Given the description of an element on the screen output the (x, y) to click on. 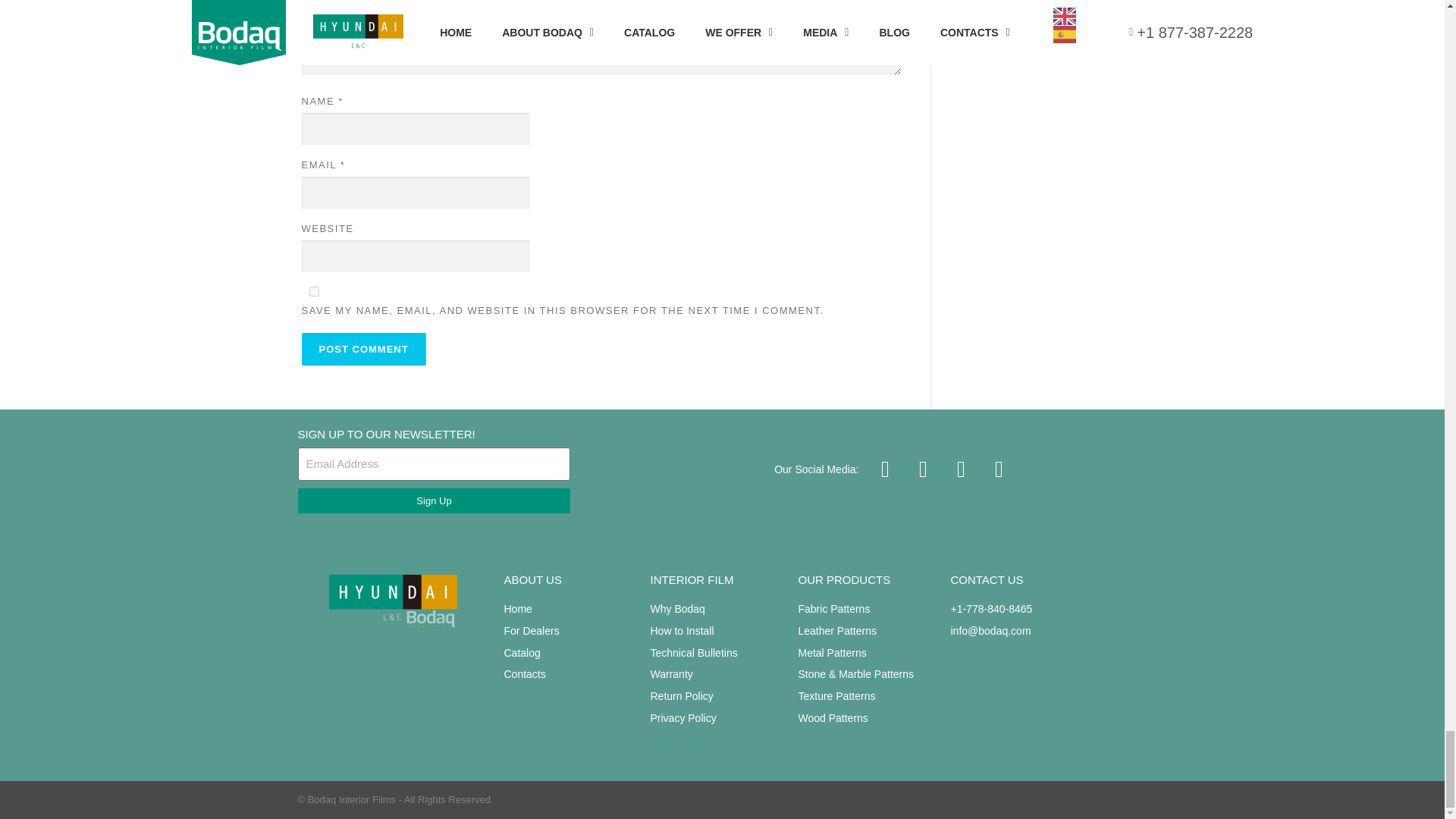
Post Comment (363, 348)
yes (313, 291)
